Given the description of an element on the screen output the (x, y) to click on. 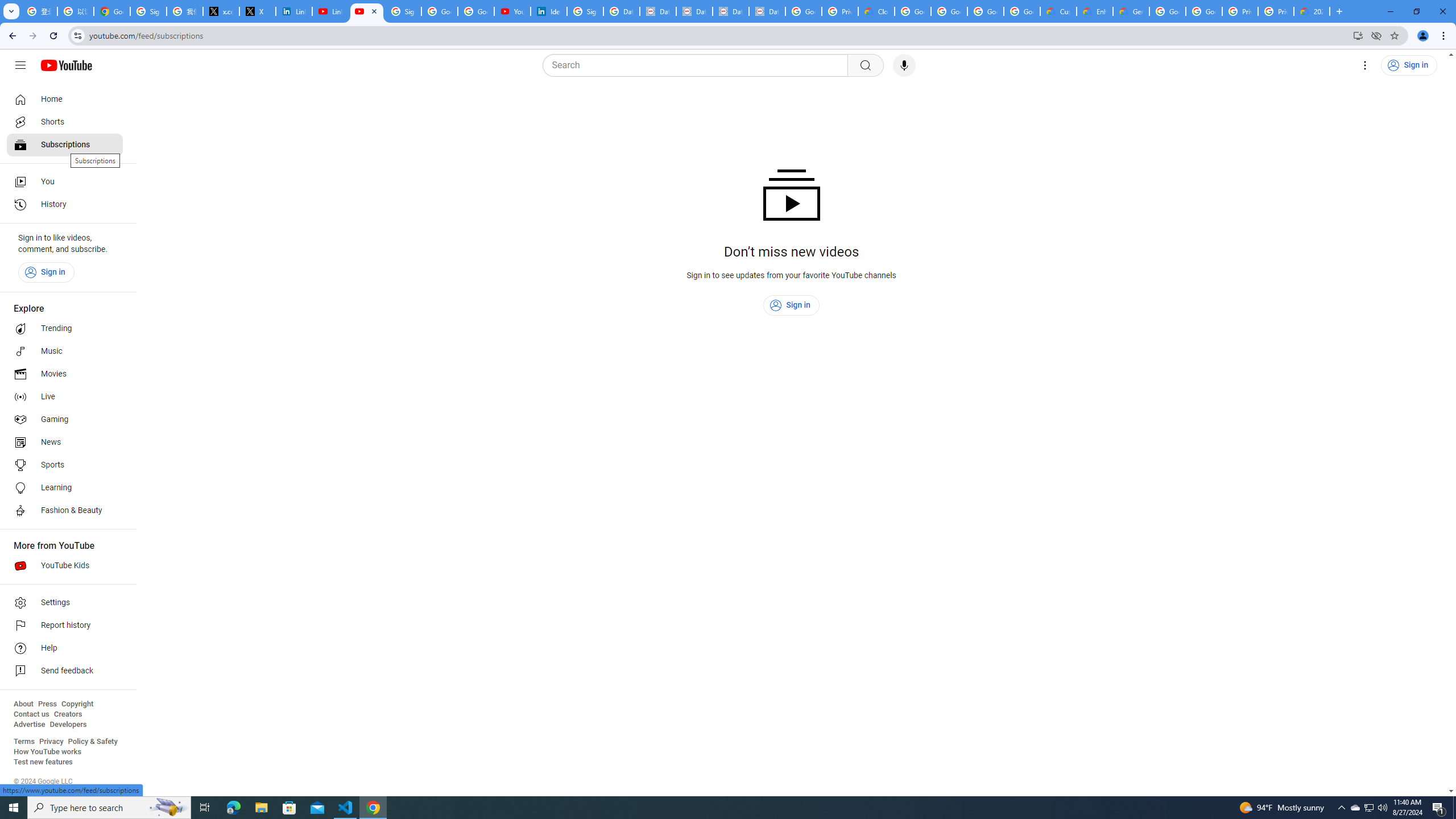
Fashion & Beauty (64, 510)
Advertise (29, 724)
X (257, 11)
Learning (64, 487)
Data Privacy Framework (730, 11)
Google Cloud Platform (1203, 11)
